Given the description of an element on the screen output the (x, y) to click on. 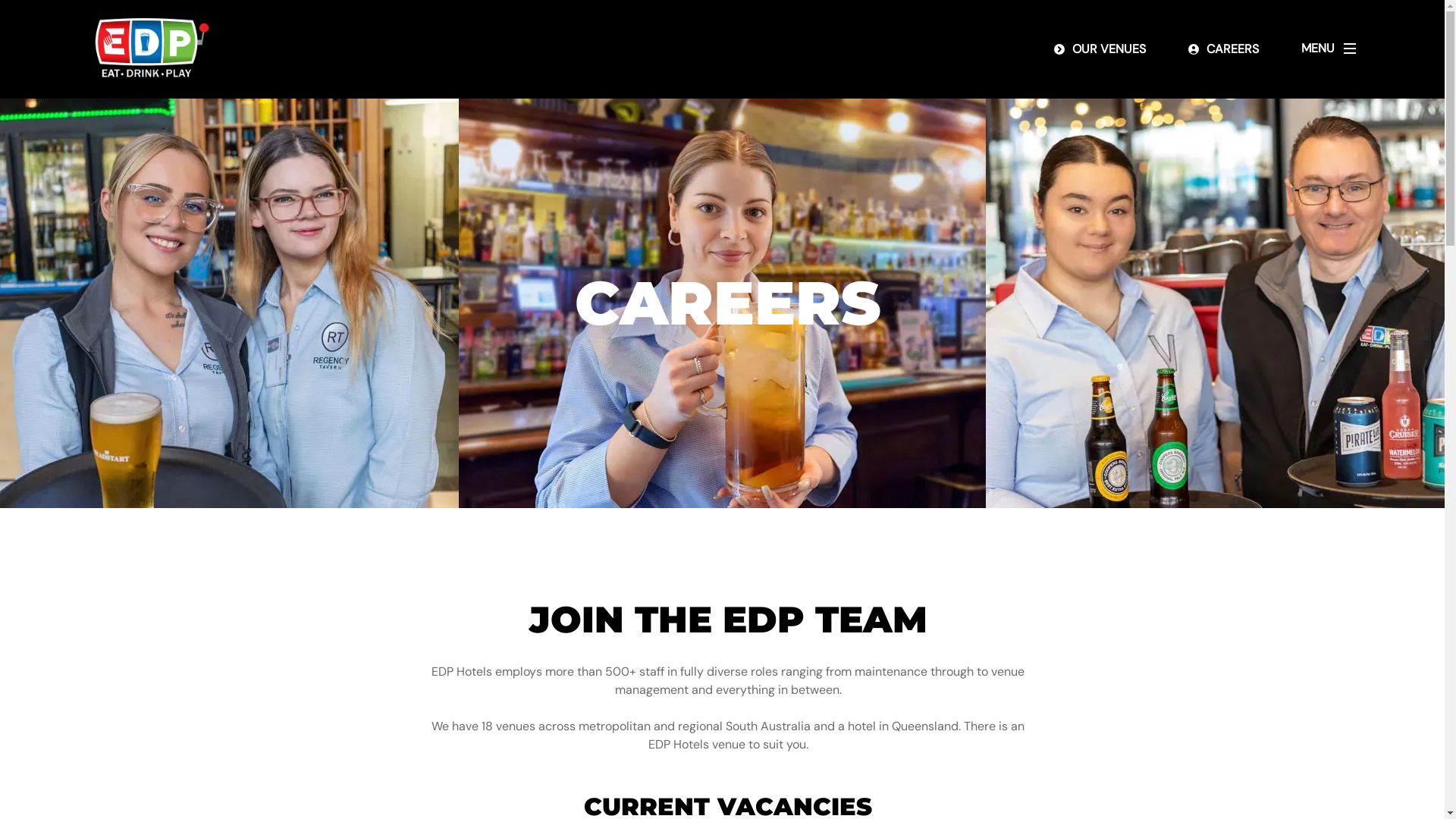
OUR VENUES Element type: text (1099, 49)
CAREERS Element type: text (1223, 49)
MENU Element type: text (1333, 49)
